Given the description of an element on the screen output the (x, y) to click on. 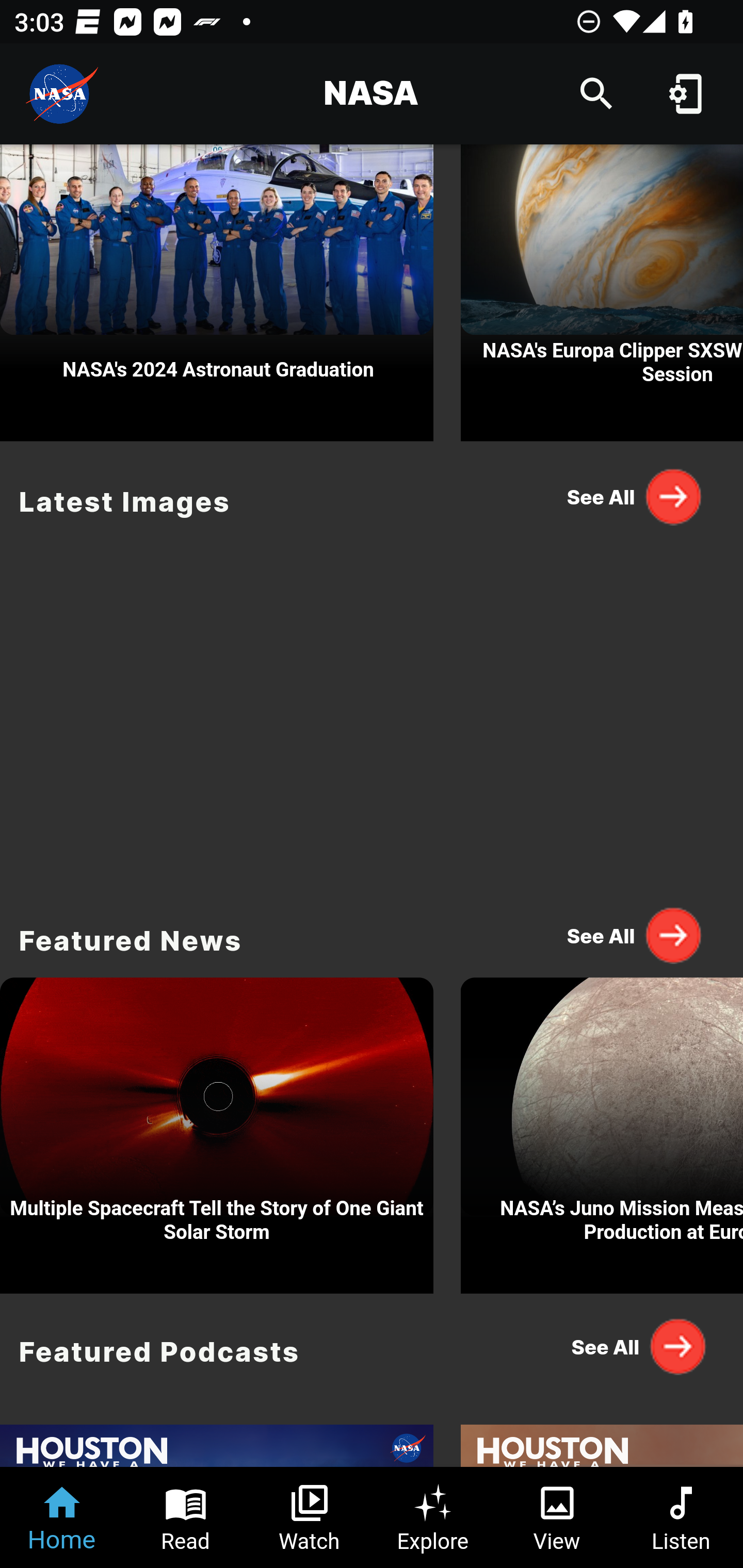
NASA's 2024 Astronaut Graduation (216, 293)
NASA's Europa Clipper SXSW 2024 Opening Session (601, 293)
See All (634, 495)
See All (634, 935)
See All (634, 1346)
Home
Tab 1 of 6 (62, 1517)
Read
Tab 2 of 6 (185, 1517)
Watch
Tab 3 of 6 (309, 1517)
Explore
Tab 4 of 6 (433, 1517)
View
Tab 5 of 6 (556, 1517)
Listen
Tab 6 of 6 (680, 1517)
